Given the description of an element on the screen output the (x, y) to click on. 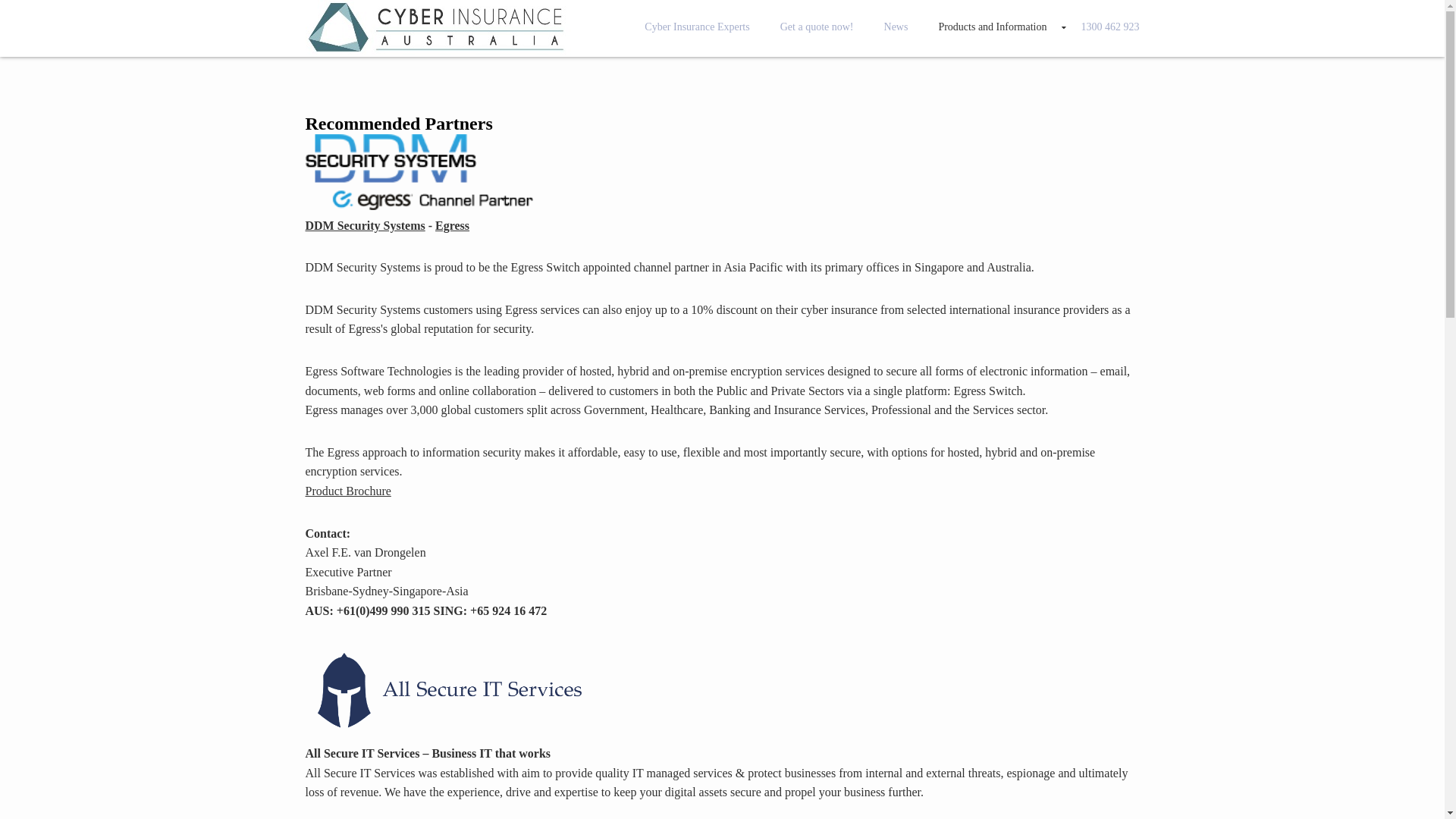
Products and Information Element type: text (991, 27)
Product Brochure Element type: text (347, 490)
1300 462 923 Element type: text (1102, 27)
Cyber Insurance Experts Element type: text (696, 27)
Get a quote now! Element type: text (817, 27)
Egress Element type: text (452, 225)
News Element type: text (896, 27)
DDM Security Systems Element type: text (364, 225)
